Given the description of an element on the screen output the (x, y) to click on. 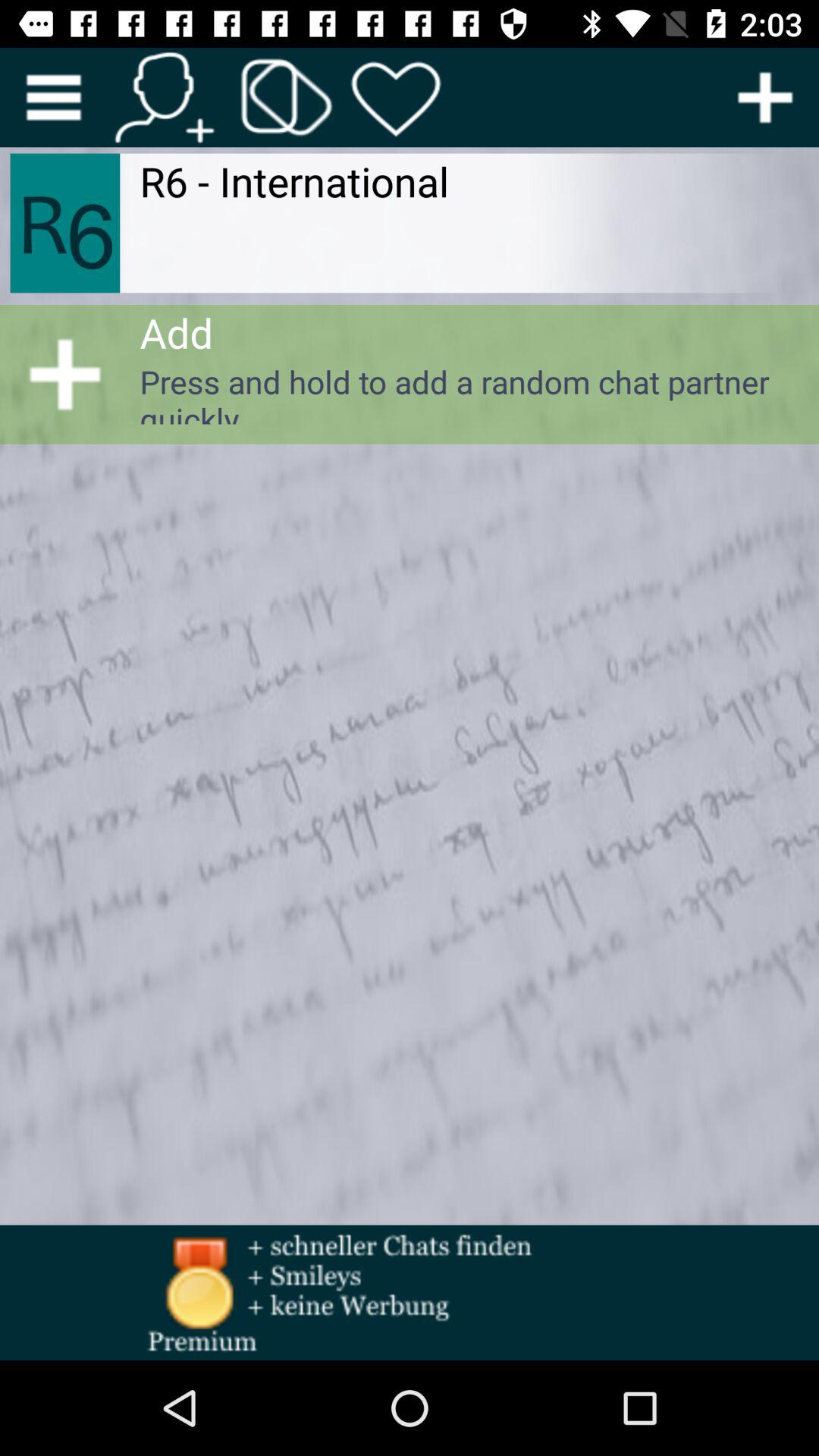
add chat partner (765, 97)
